Given the description of an element on the screen output the (x, y) to click on. 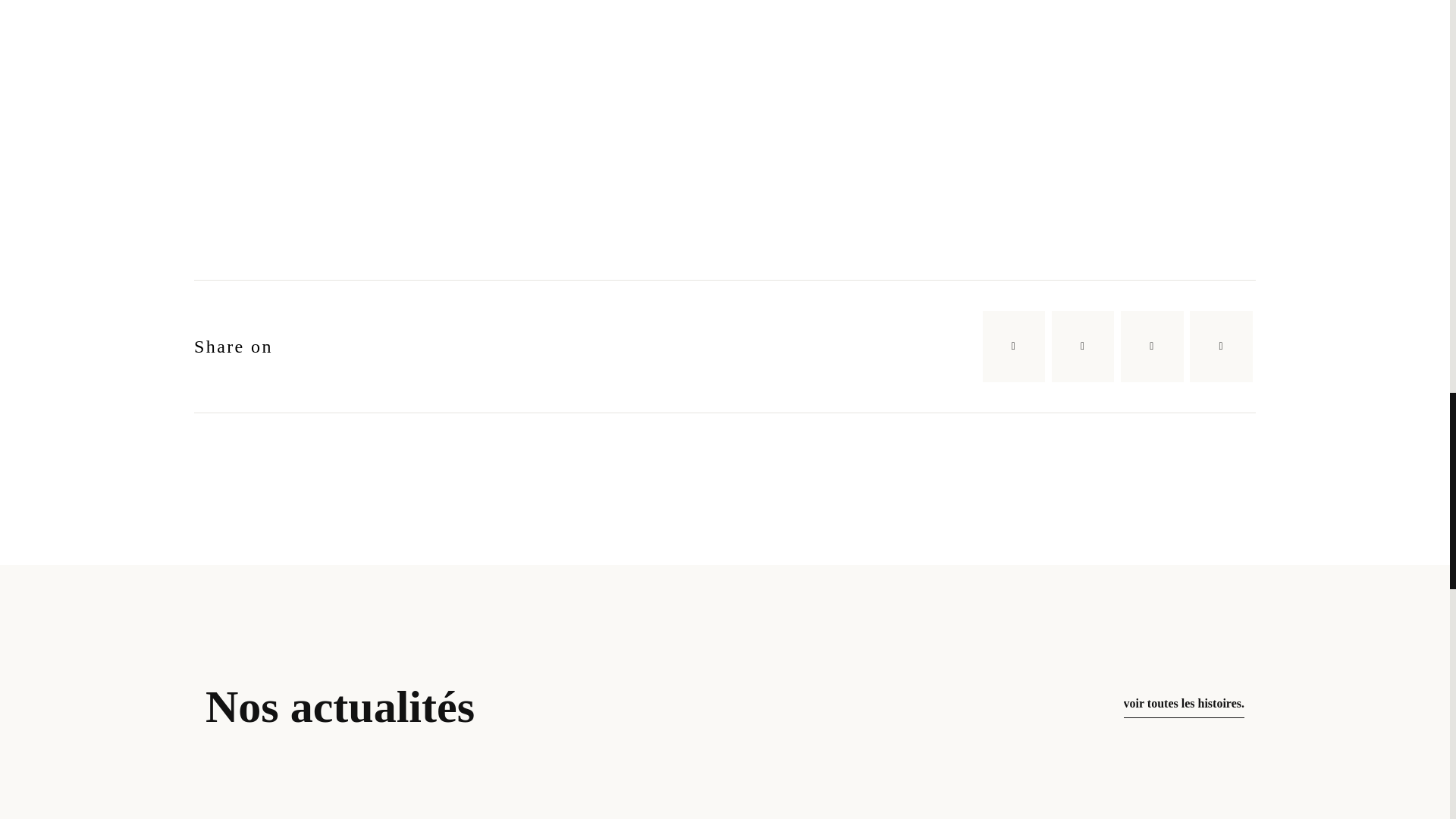
Cafedelhomme-Helipass-Experience-Paris-460x295 (379, 95)
couple-helicoptere-helipass-460x295 (729, 95)
voir toutes les histoires. (1184, 706)
